Given the description of an element on the screen output the (x, y) to click on. 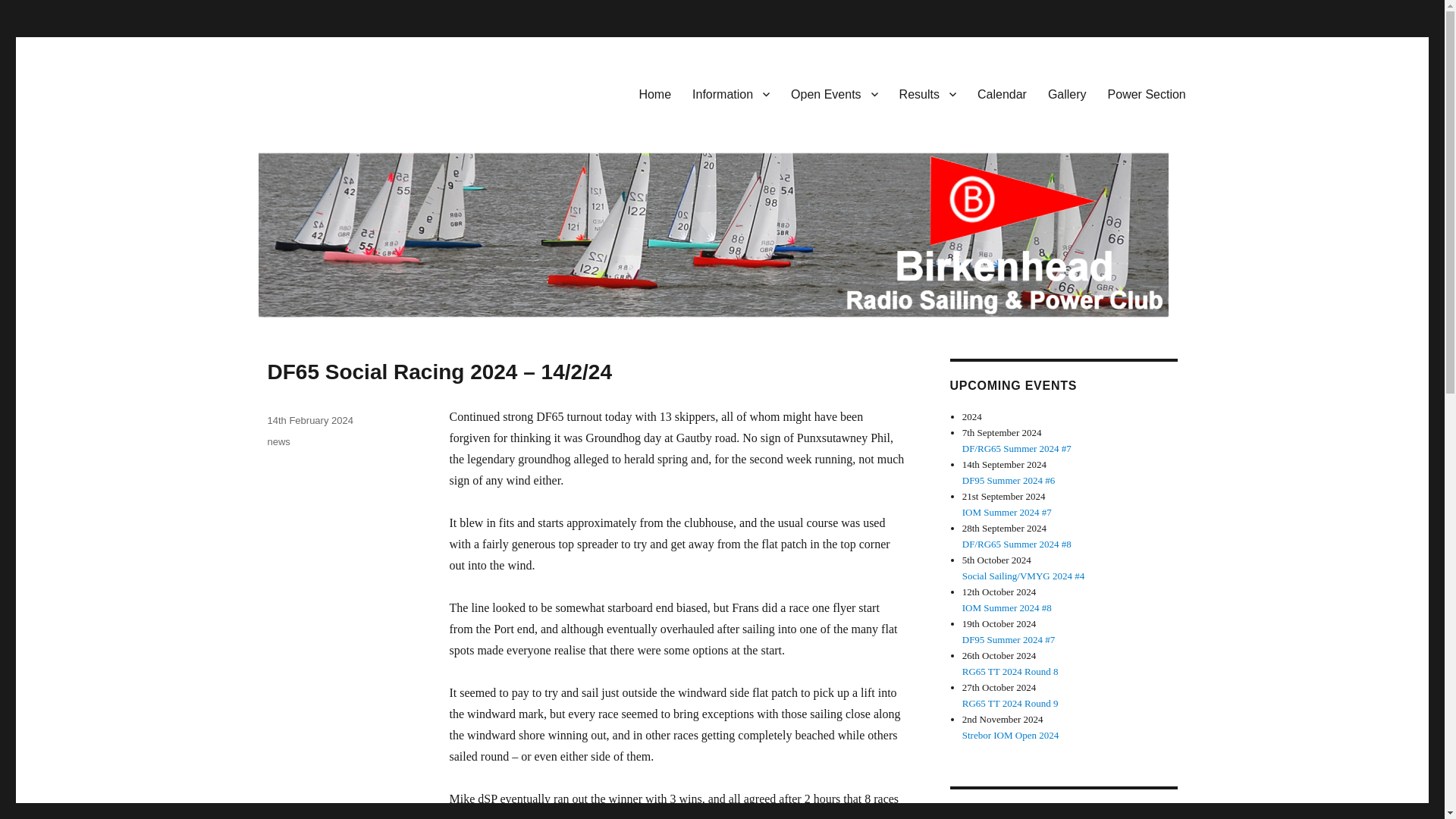
Open Events (834, 93)
Calendar (1001, 93)
Information (730, 93)
Results (927, 93)
RG65 TT 2024 Round 9 (1010, 703)
RG65 TT 2024 Round 8 (1010, 671)
Home (654, 93)
Strebor IOM Open 2024 (1010, 735)
Gallery (1066, 93)
